Given the description of an element on the screen output the (x, y) to click on. 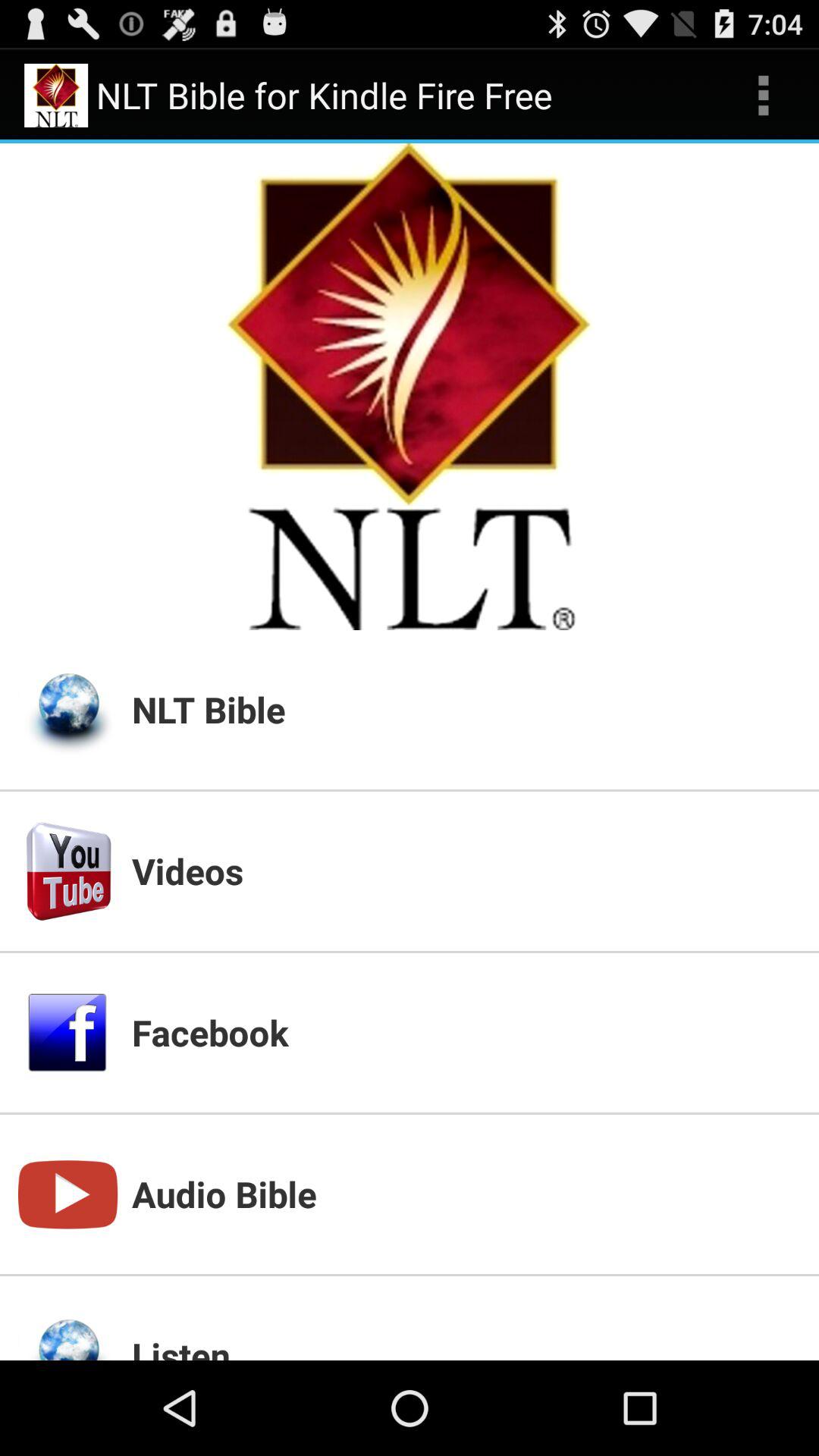
scroll to the videos item (465, 870)
